Given the description of an element on the screen output the (x, y) to click on. 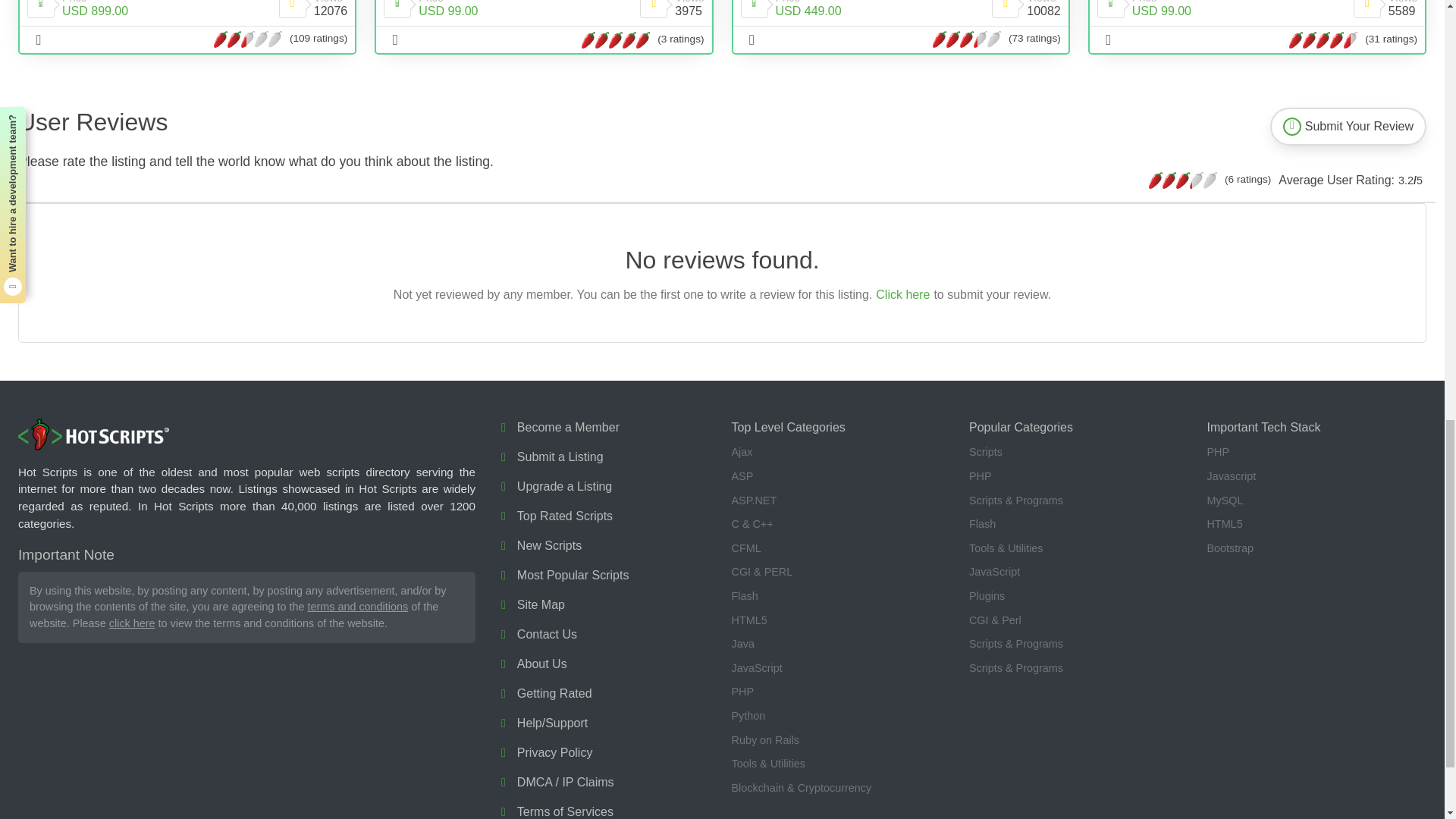
Hotscripts (93, 435)
